Given the description of an element on the screen output the (x, y) to click on. 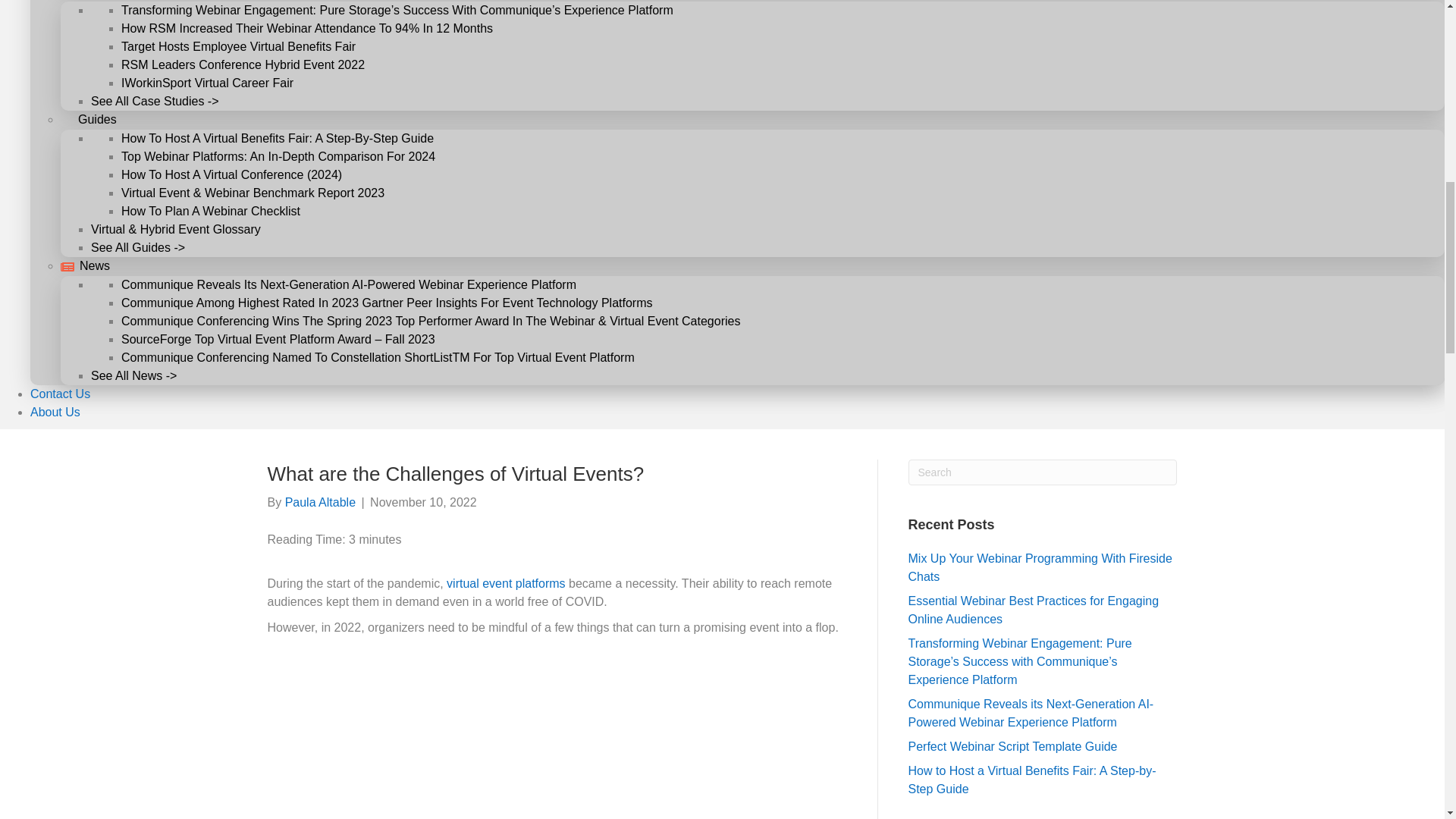
Type and press Enter to search. (1042, 472)
